Given the description of an element on the screen output the (x, y) to click on. 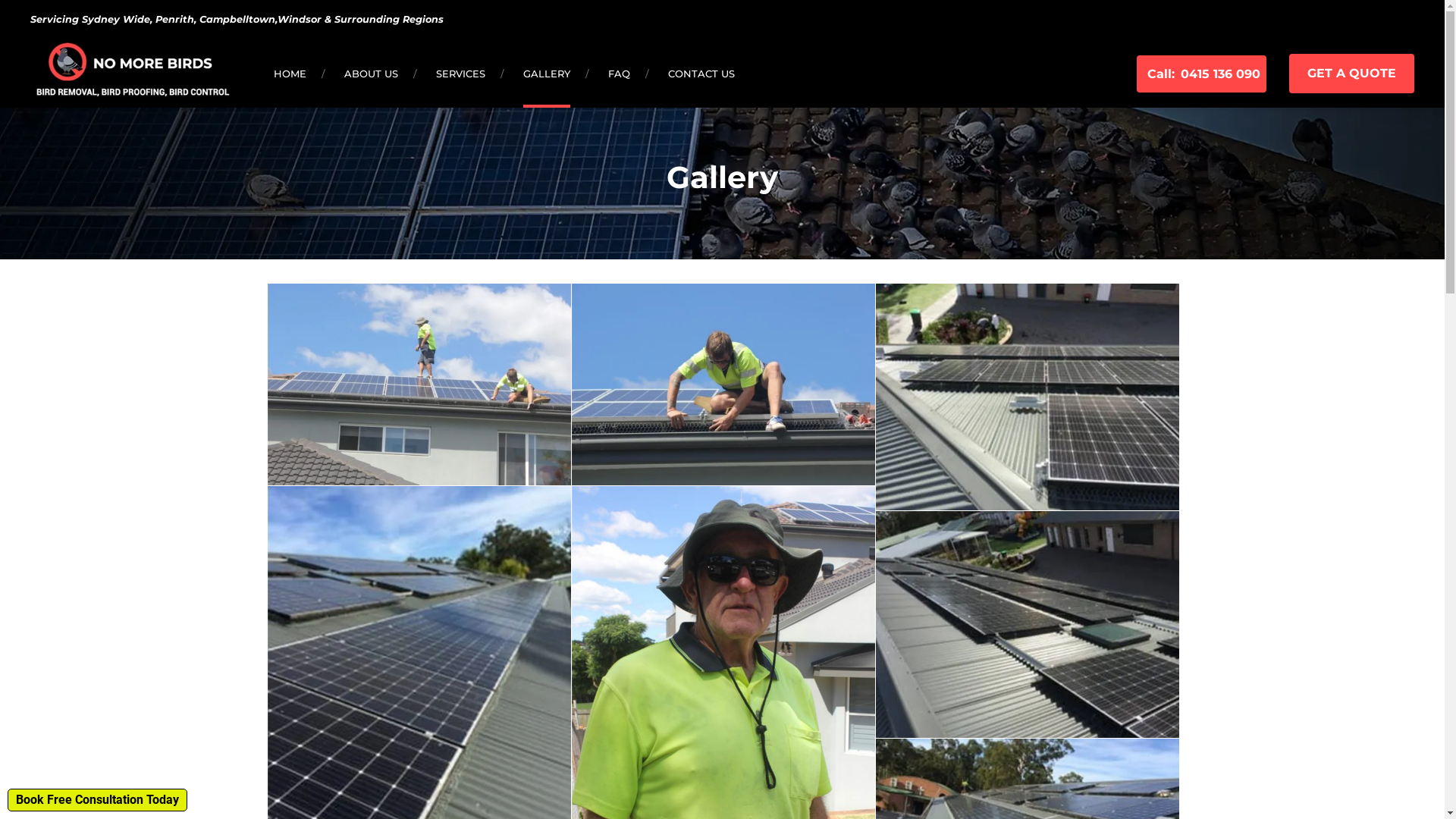
Solar Panel Pest Control Element type: hover (723, 384)
Solar Panel Pest Control Element type: hover (418, 384)
SERVICES Element type: text (460, 73)
Call:0415 136 090 Element type: text (1200, 74)
FAQ Element type: text (619, 73)
Book Free Consultation Today Element type: text (97, 799)
GALLERY Element type: text (546, 73)
ABOUT US Element type: text (371, 73)
GET A QUOTE Element type: text (1351, 73)
HOME Element type: text (289, 73)
CONTACT US Element type: text (701, 73)
Bird Proofing Solar Panels Element type: hover (1027, 397)
